Given the description of an element on the screen output the (x, y) to click on. 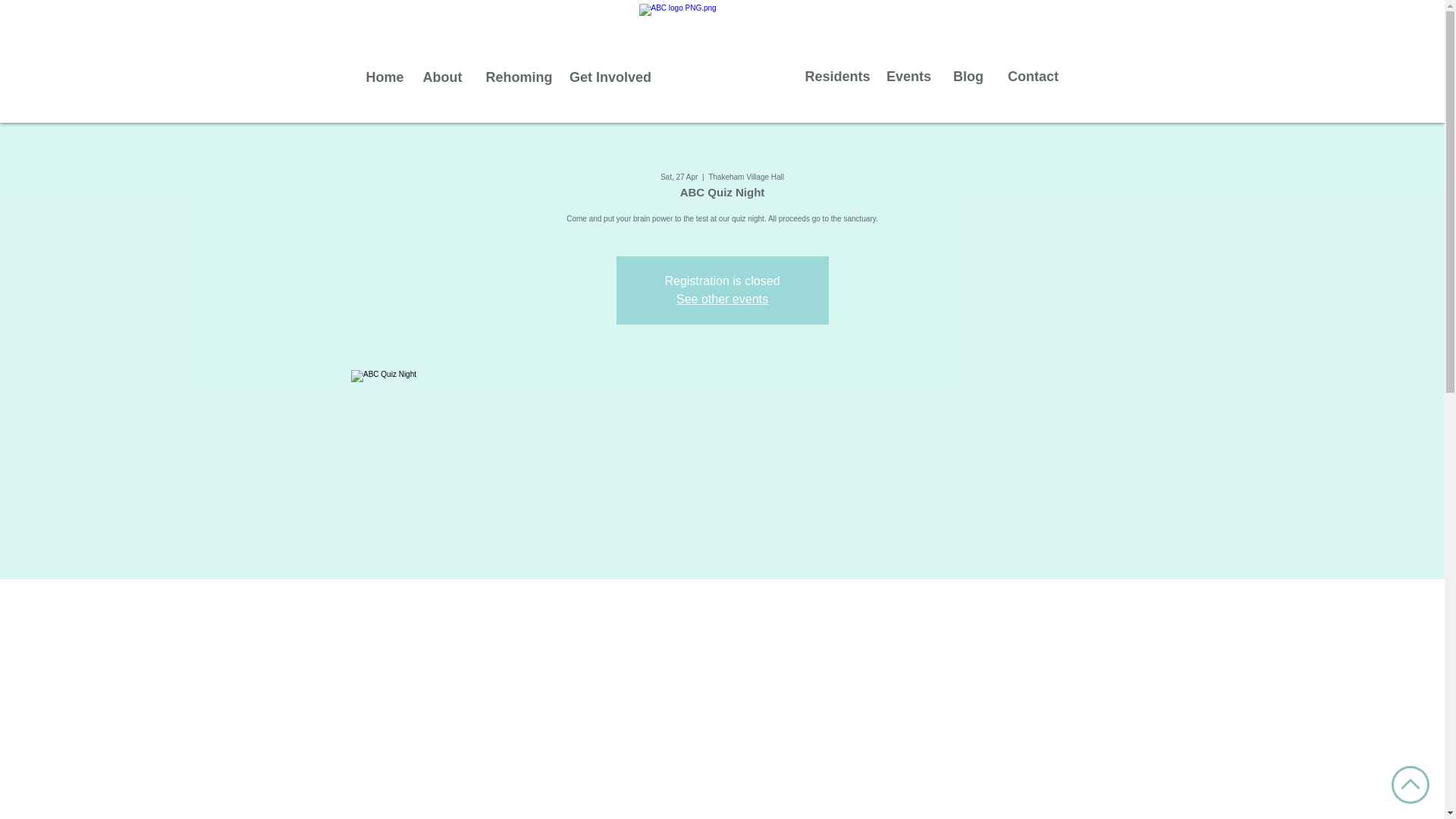
Home (384, 77)
Rehoming (518, 77)
Contact (1032, 77)
Get Involved (609, 77)
Blog (967, 77)
Residents (837, 77)
About (442, 77)
See other events (722, 298)
Events (909, 77)
